Given the description of an element on the screen output the (x, y) to click on. 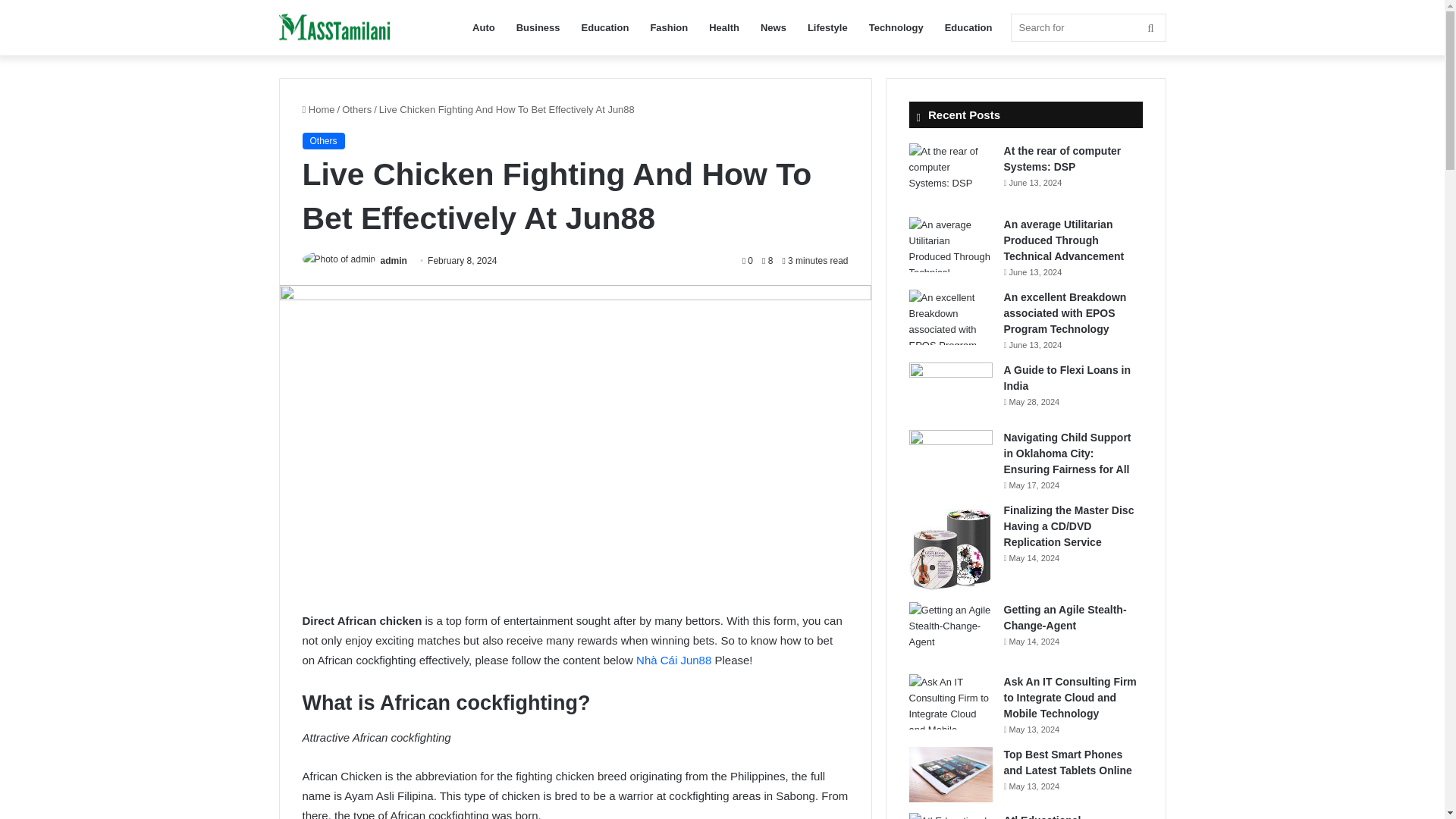
Masstamilani.com (336, 27)
Health (723, 27)
Search for (1088, 27)
Lifestyle (827, 27)
Home (317, 109)
Others (322, 140)
admin (393, 260)
Education (968, 27)
Business (537, 27)
Technology (896, 27)
